Given the description of an element on the screen output the (x, y) to click on. 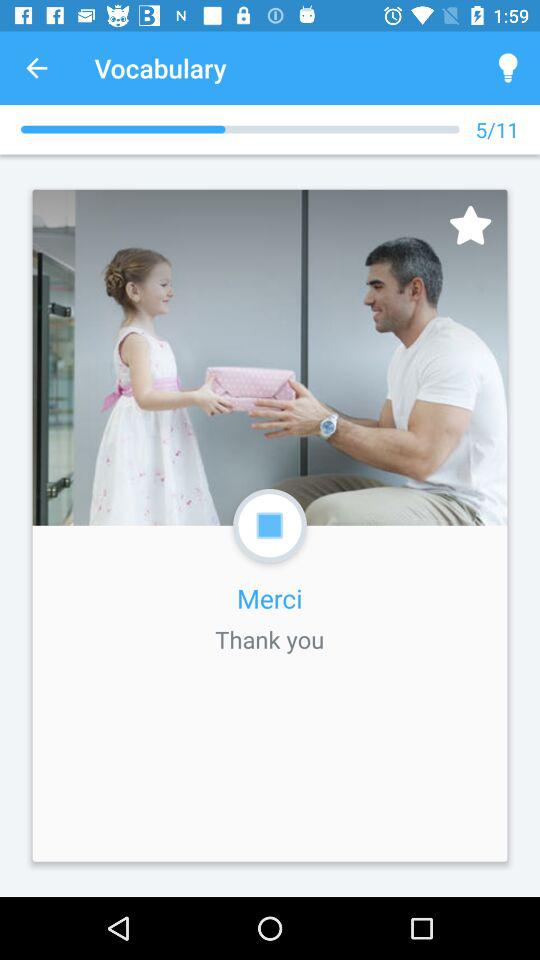
launch the icon to the left of the vocabulary (36, 68)
